Given the description of an element on the screen output the (x, y) to click on. 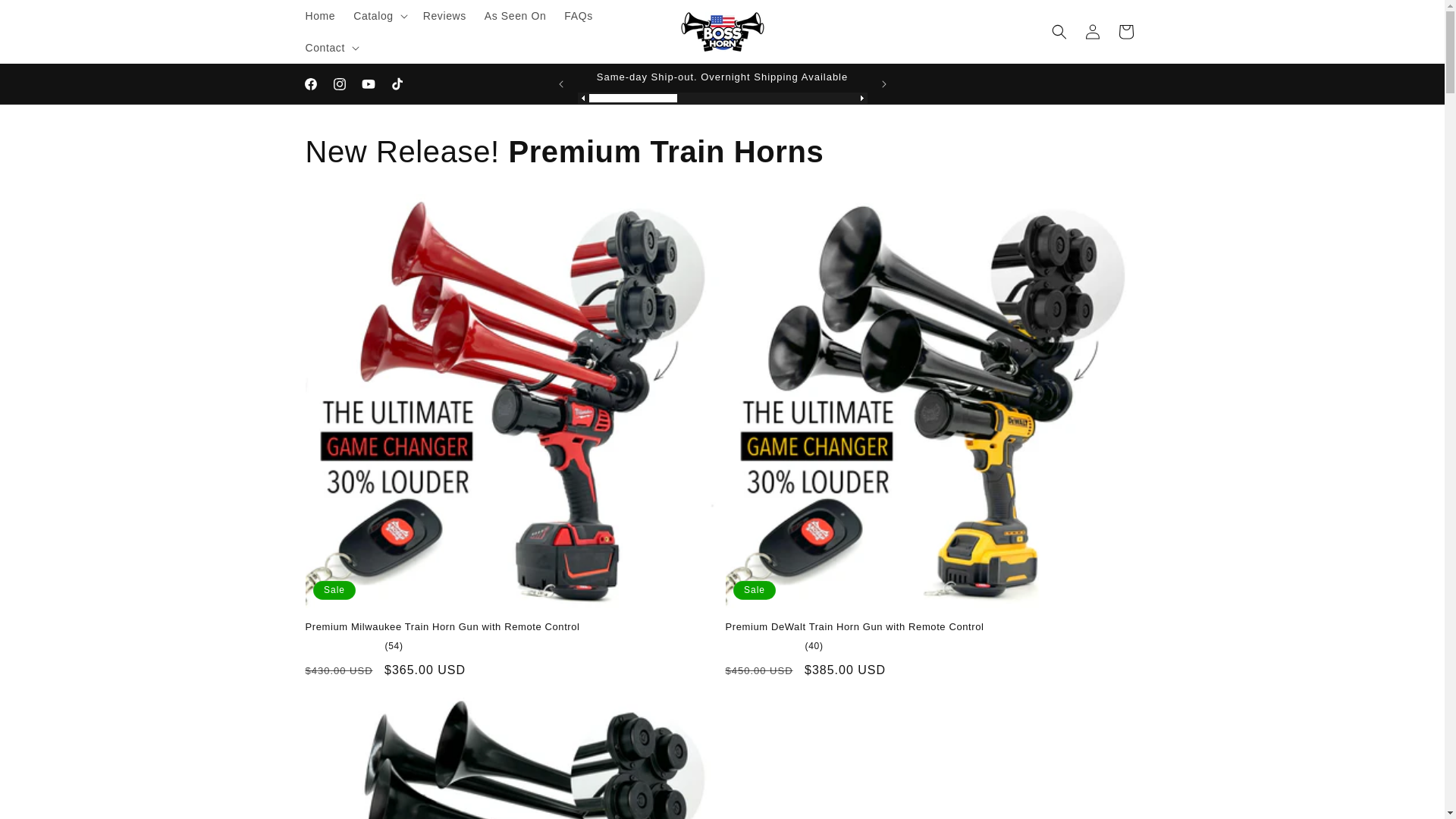
Home (319, 15)
Skip to content (47, 18)
As Seen On (516, 15)
Reviews (444, 15)
